Given the description of an element on the screen output the (x, y) to click on. 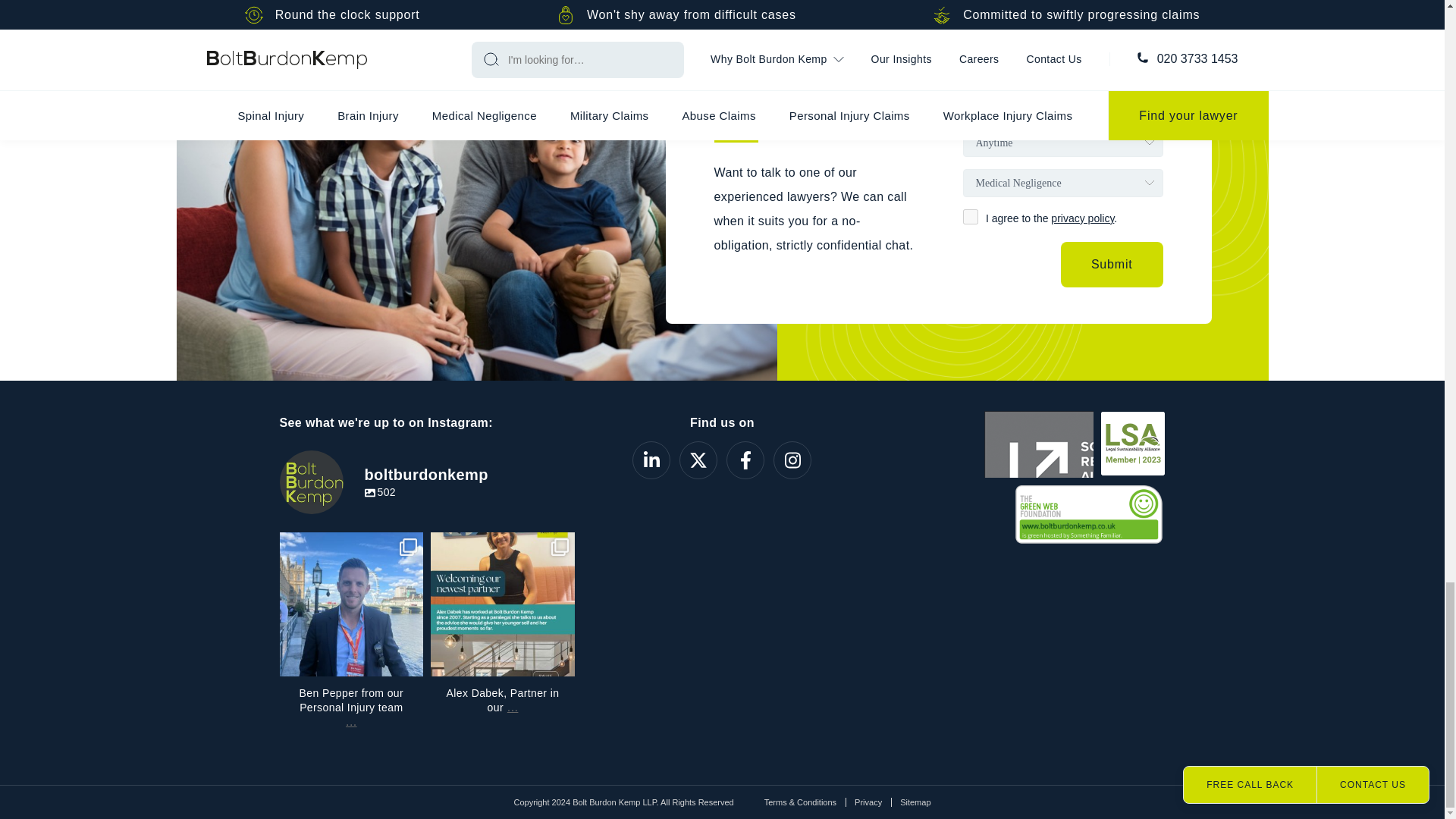
United Kingdom (992, 102)
1 (970, 216)
Submit (1112, 264)
